Given the description of an element on the screen output the (x, y) to click on. 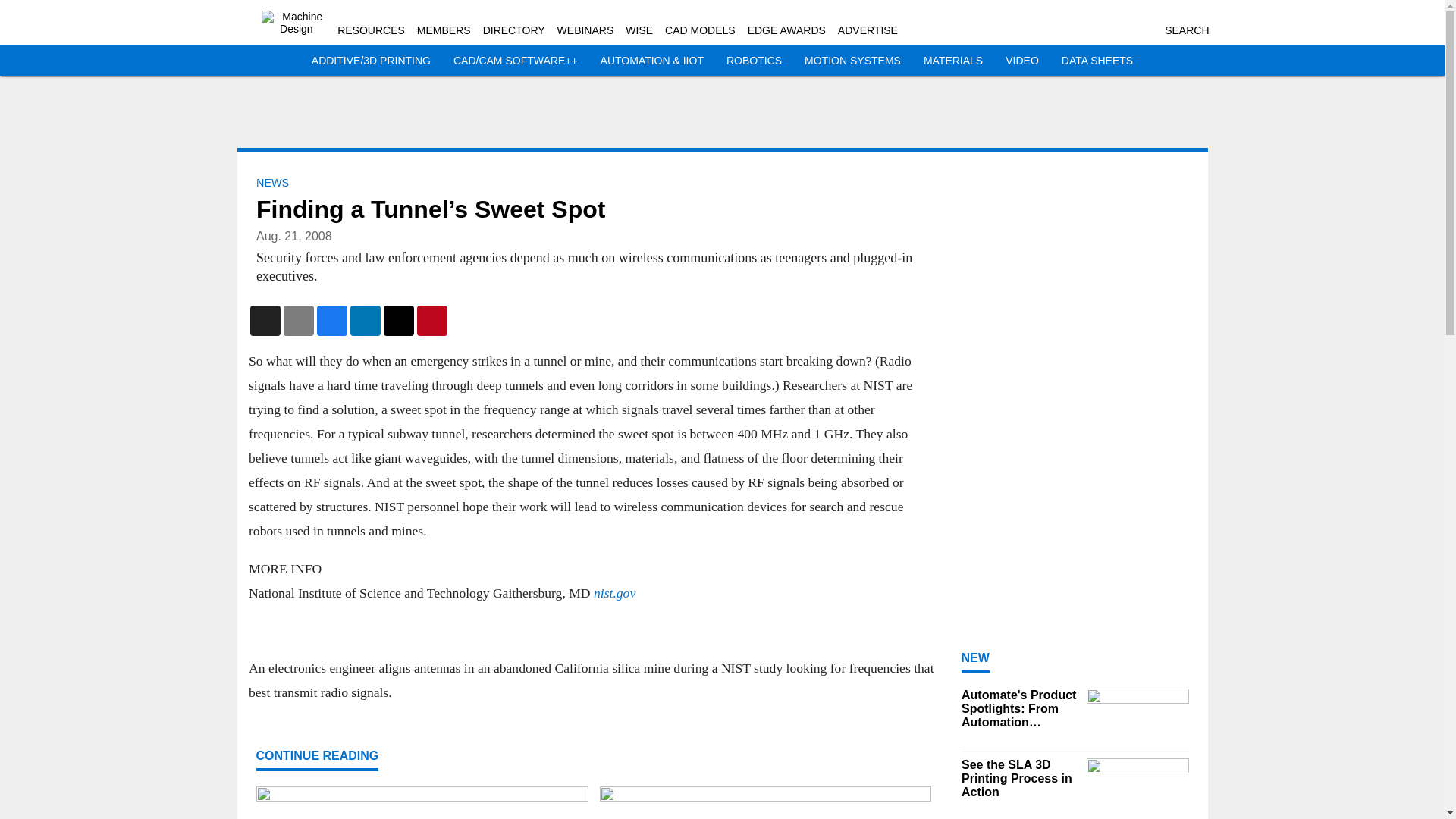
ADVERTISE (868, 30)
DIRECTORY (513, 30)
DATA SHEETS (1096, 60)
WEBINARS (585, 30)
NEWS (272, 182)
MATERIALS (952, 60)
RESOURCES (370, 30)
CAD MODELS (700, 30)
WISE (639, 30)
MOTION SYSTEMS (853, 60)
MEMBERS (443, 30)
EDGE AWARDS (786, 30)
VIDEO (1022, 60)
SEARCH (1186, 30)
ROBOTICS (753, 60)
